Given the description of an element on the screen output the (x, y) to click on. 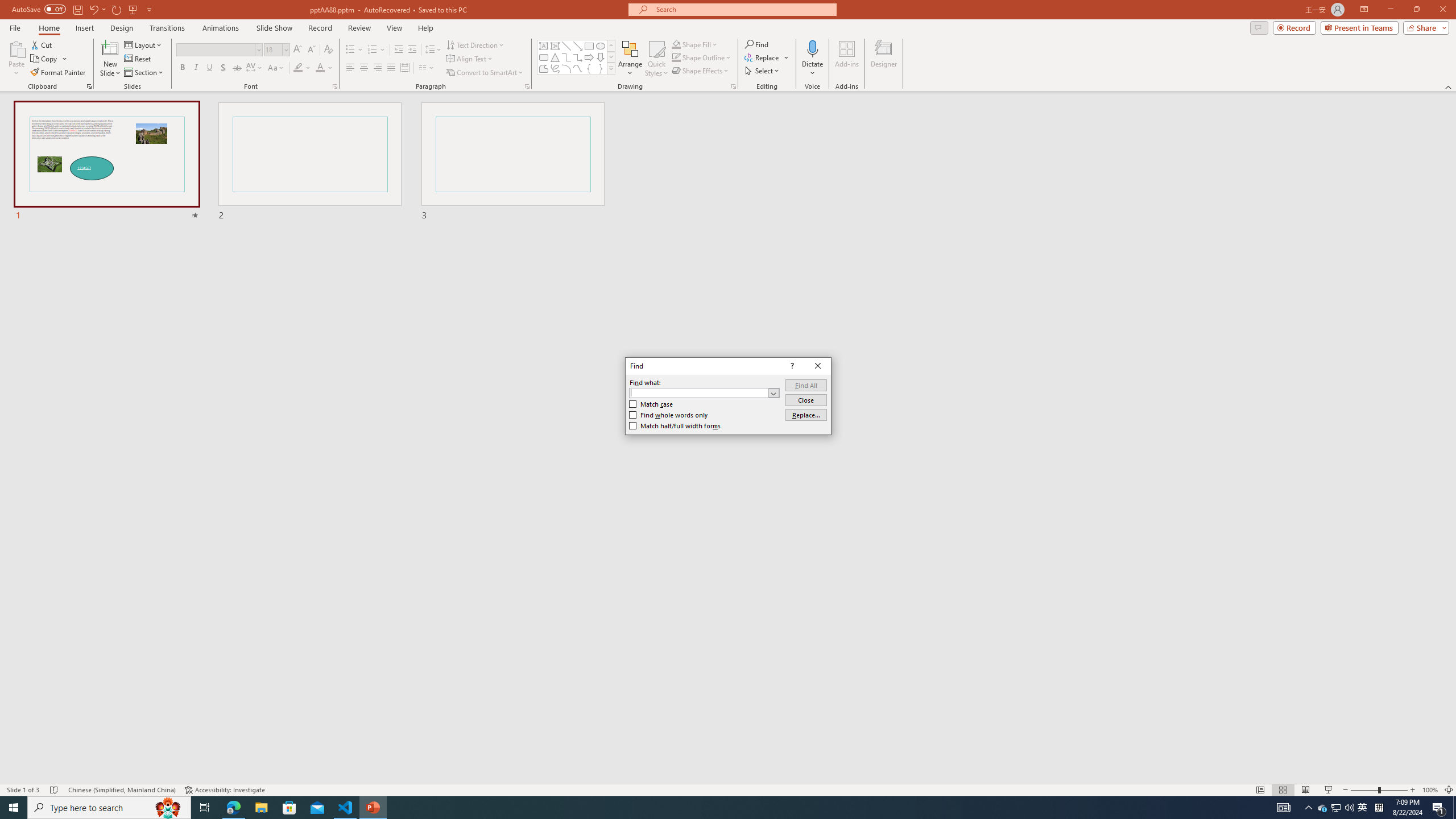
Match case (651, 403)
Context help (791, 366)
Zoom 100% (1430, 790)
